Given the description of an element on the screen output the (x, y) to click on. 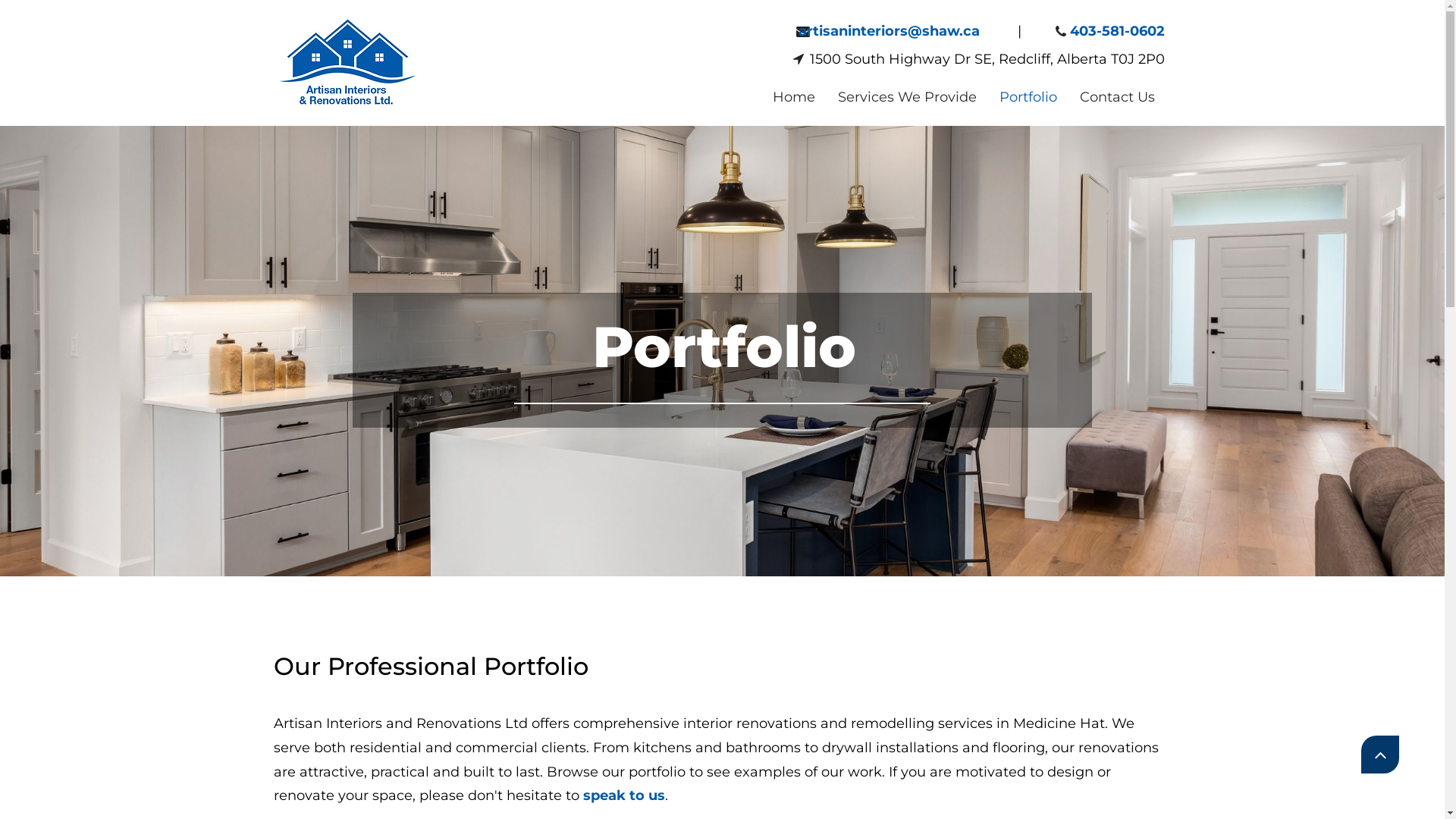
403-581-0602 Element type: text (1115, 30)
Contact Us Element type: text (1116, 97)
Portfolio Element type: text (1028, 97)
Services We Provide Element type: text (906, 97)
speak to us Element type: text (622, 795)
artisaninteriors@shaw.ca Element type: text (886, 30)
Home Element type: text (793, 97)
